Given the description of an element on the screen output the (x, y) to click on. 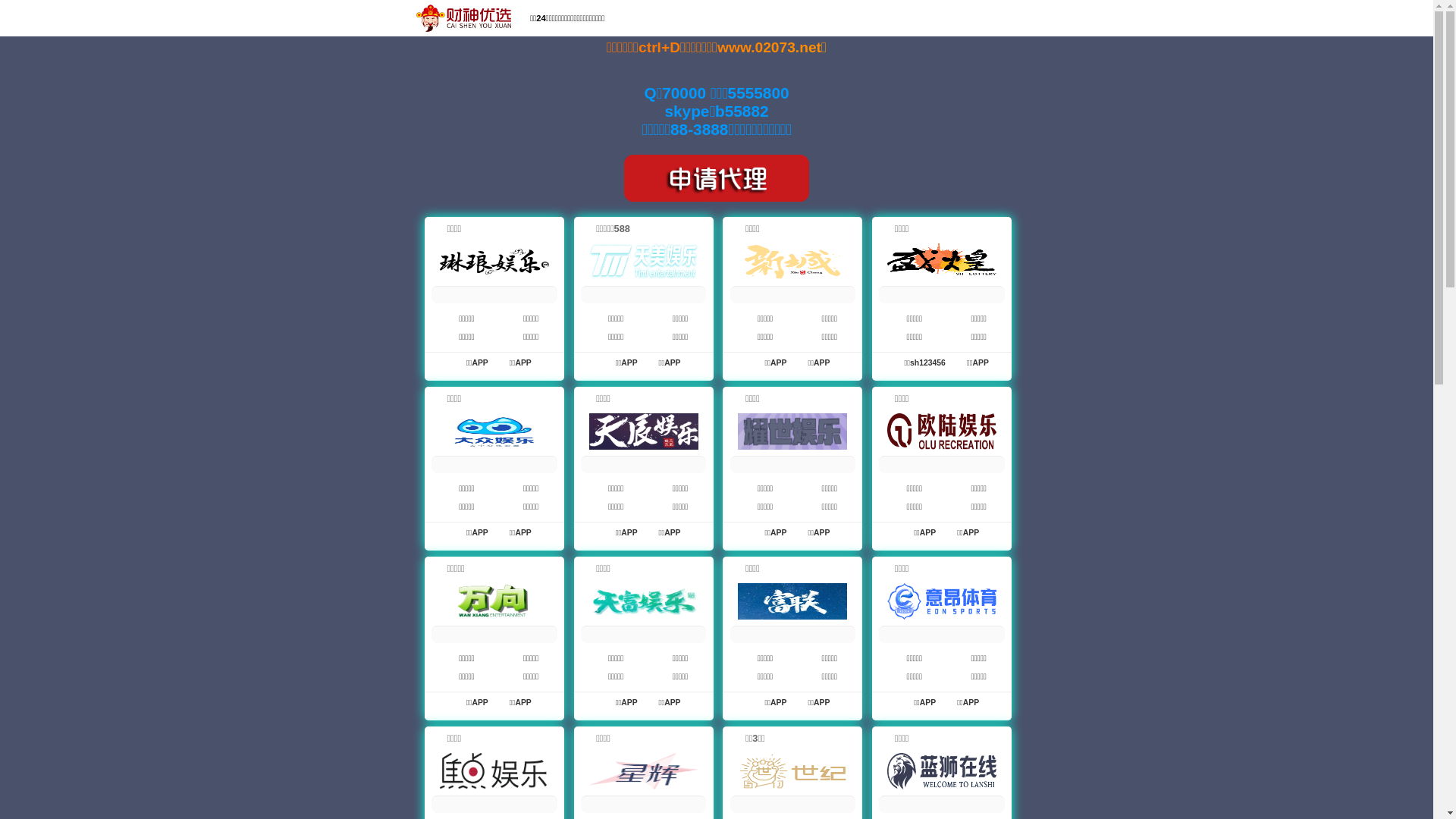
QQ Element type: text (1117, 19)
E-mail Element type: text (1162, 19)
